Given the description of an element on the screen output the (x, y) to click on. 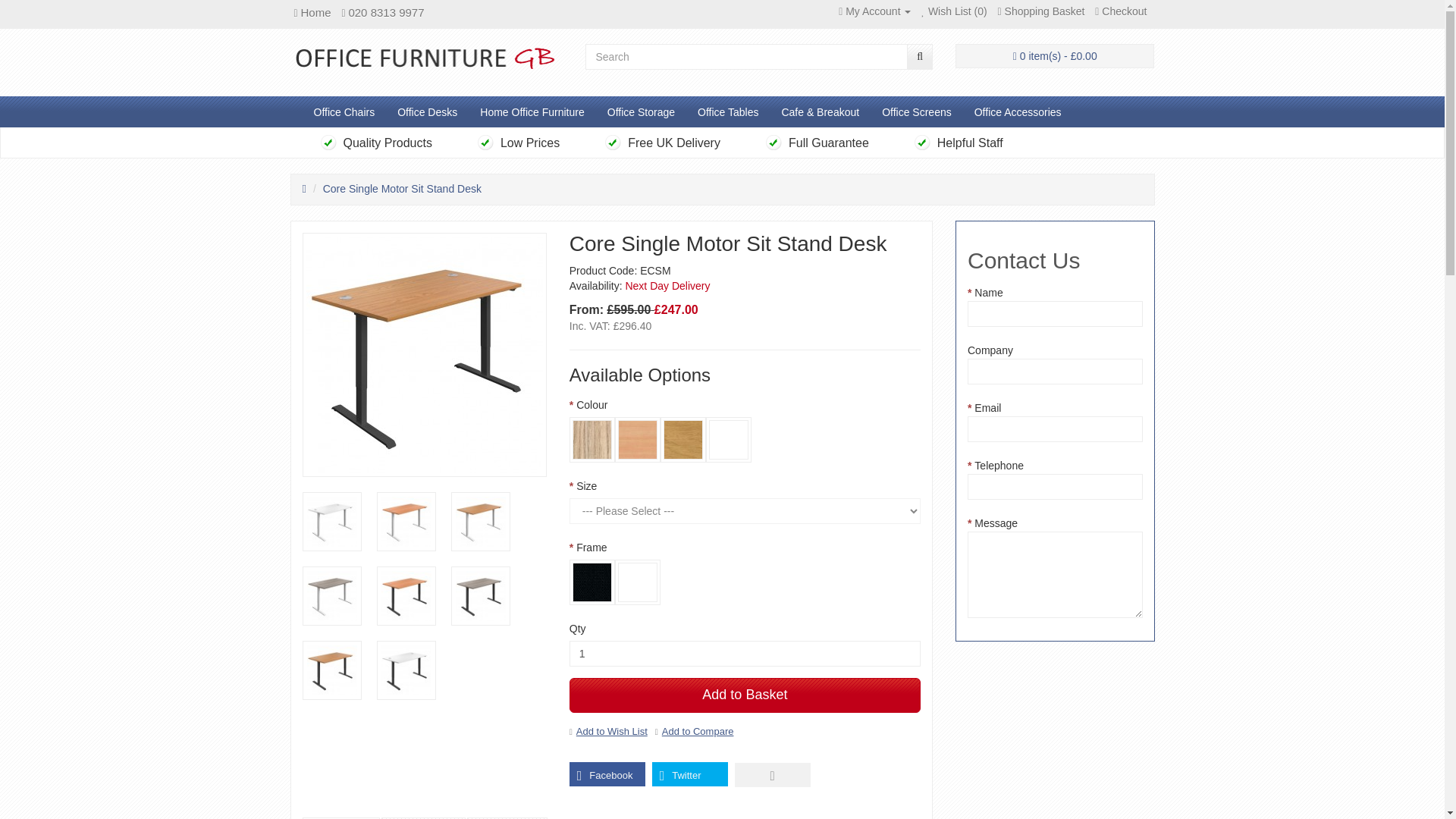
Core Single Motor Sit Stand Desk (405, 595)
Office Desks (426, 112)
1 (744, 653)
Checkout (1120, 10)
Core Single Motor Sit Stand Desk (479, 521)
 Colour: BeechFrame: Black (405, 595)
Office Chairs (343, 112)
 Colour: WhiteFrame: White (330, 521)
Core Single Motor Sit Stand Desk (405, 521)
Core Single Motor Sit Stand Desk (331, 595)
